Given the description of an element on the screen output the (x, y) to click on. 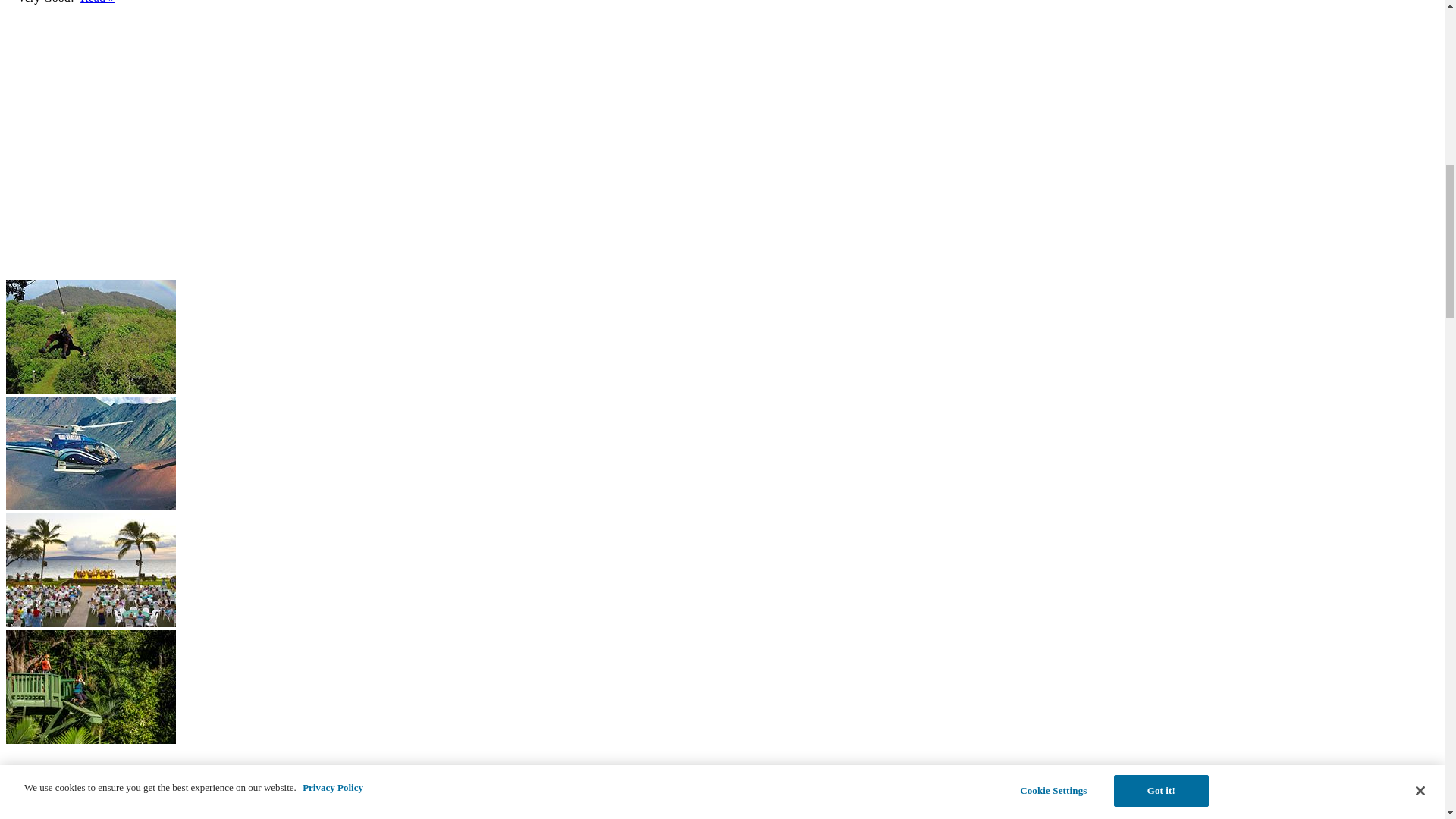
View All Things to Do (60, 815)
